Given the description of an element on the screen output the (x, y) to click on. 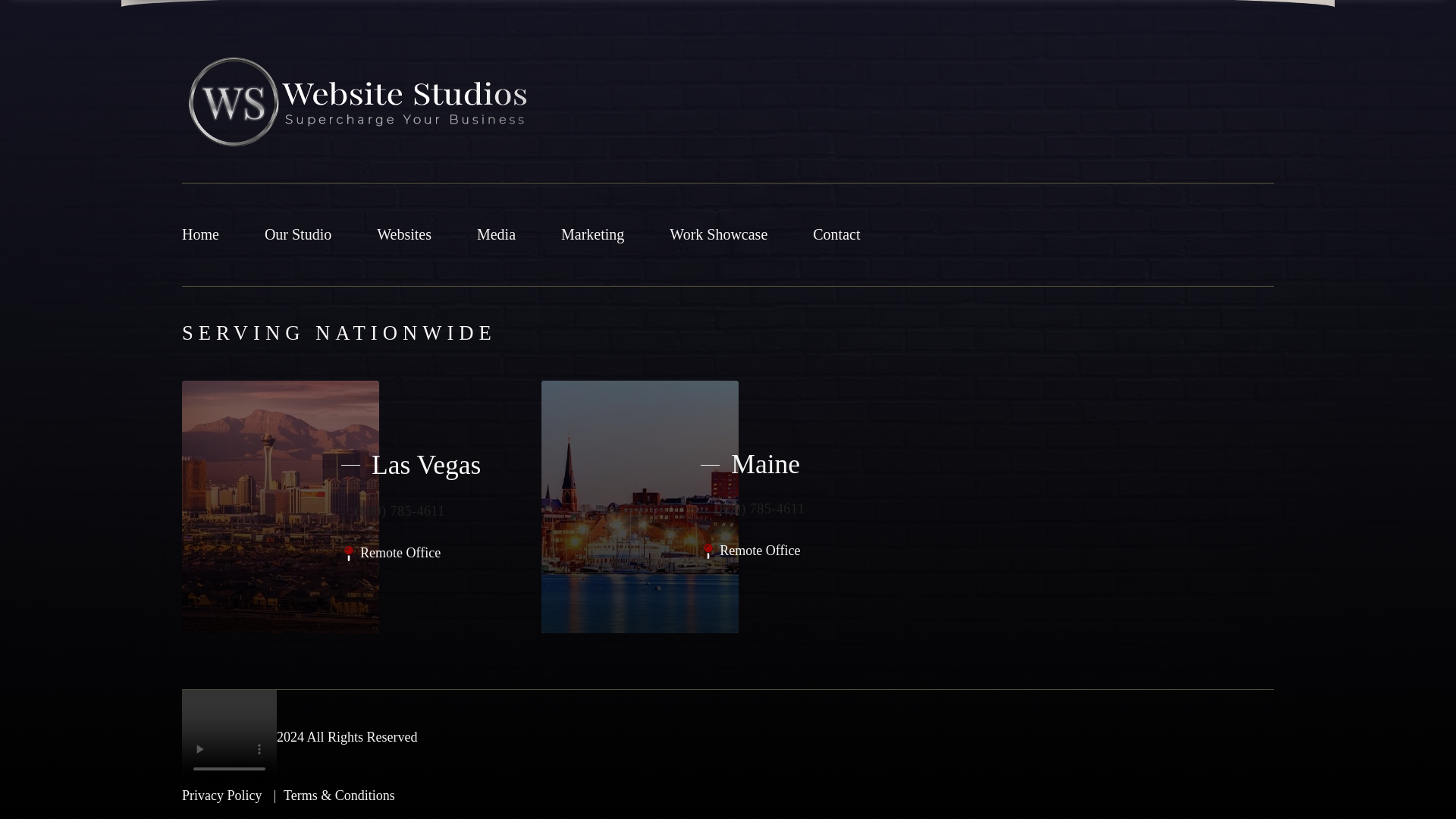
Work Showcase (718, 234)
Privacy Policy (229, 795)
Websites (403, 234)
Our Studio (297, 234)
Contact (836, 234)
Media (496, 234)
Marketing (592, 234)
Home (200, 234)
